Given the description of an element on the screen output the (x, y) to click on. 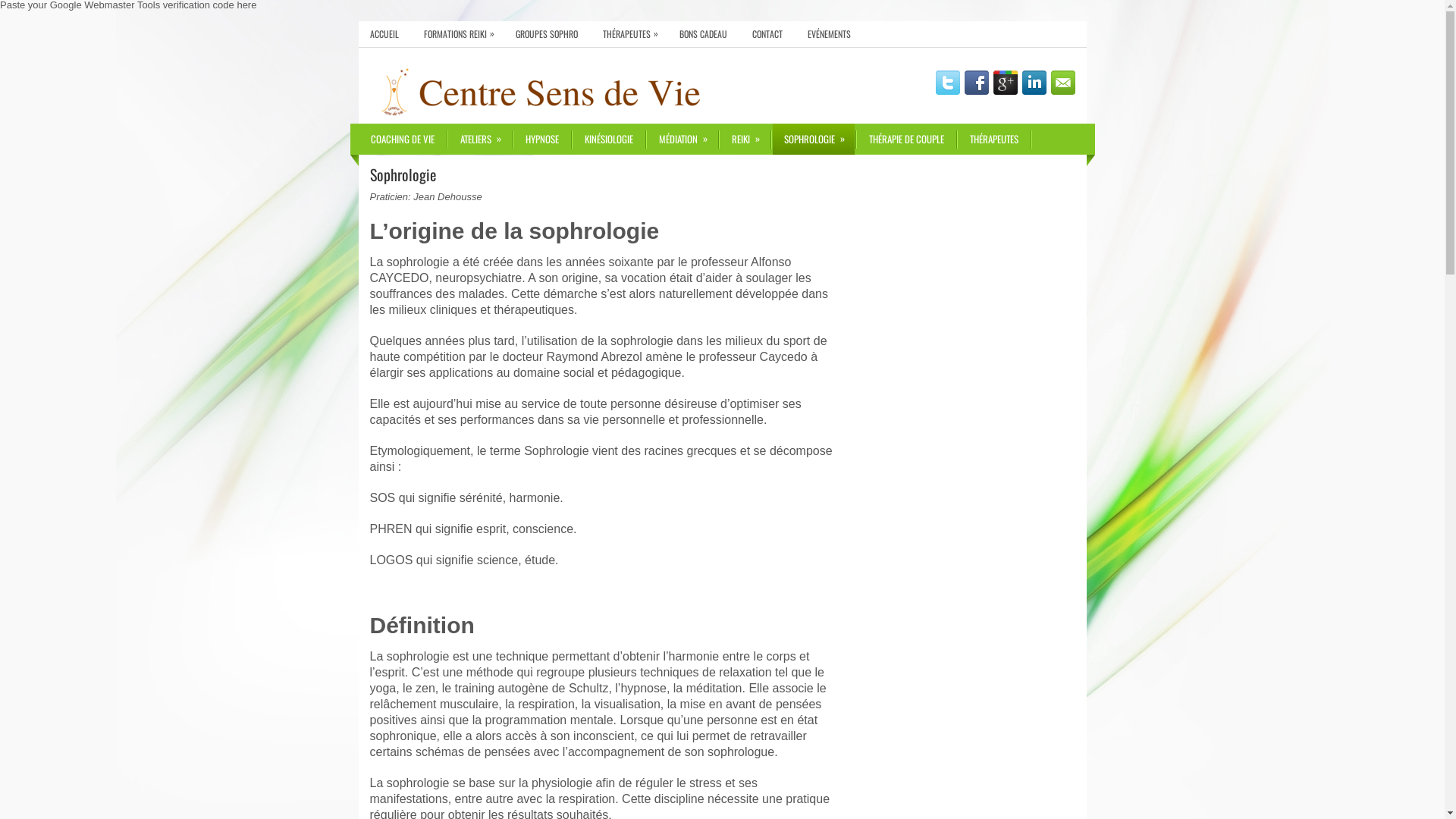
LinkedIn Element type: hover (1034, 82)
COACHING DE VIE Element type: text (402, 138)
Facebook Element type: hover (976, 82)
Twitter Element type: hover (947, 82)
         Centre Sens de Vie Element type: hover (559, 91)
ACCUEIL Element type: text (383, 34)
GROUPES SOPHRO Element type: text (545, 34)
Google Plus Element type: hover (1005, 82)
HYPNOSE Element type: text (542, 138)
Email Element type: hover (1063, 82)
BONS CADEAU Element type: text (702, 34)
CONTACT Element type: text (766, 34)
